Given the description of an element on the screen output the (x, y) to click on. 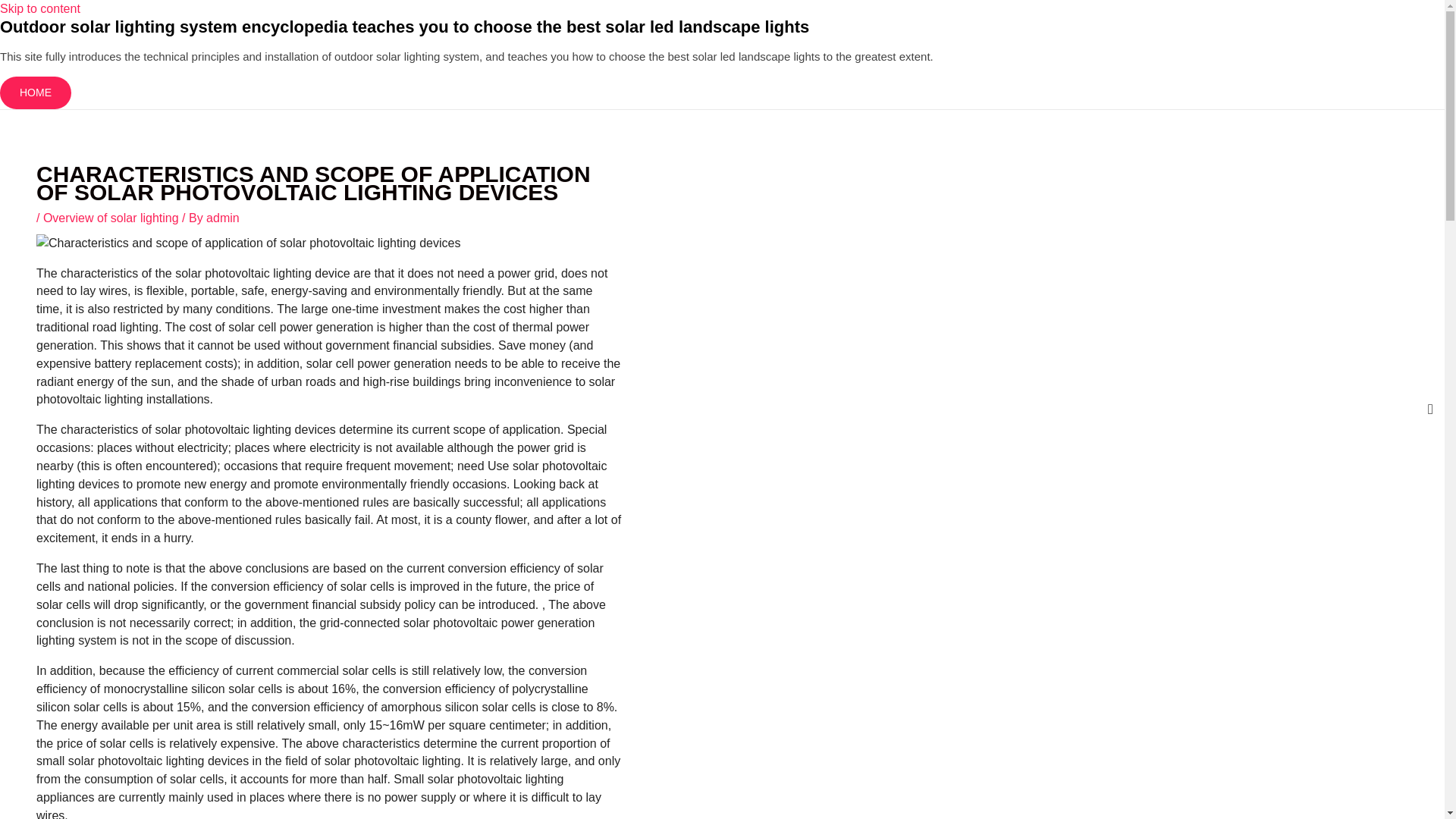
View all posts by admin (223, 217)
Skip to content (40, 8)
HOME (35, 92)
admin (223, 217)
Skip to content (40, 8)
Overview of solar lighting (111, 217)
